Given the description of an element on the screen output the (x, y) to click on. 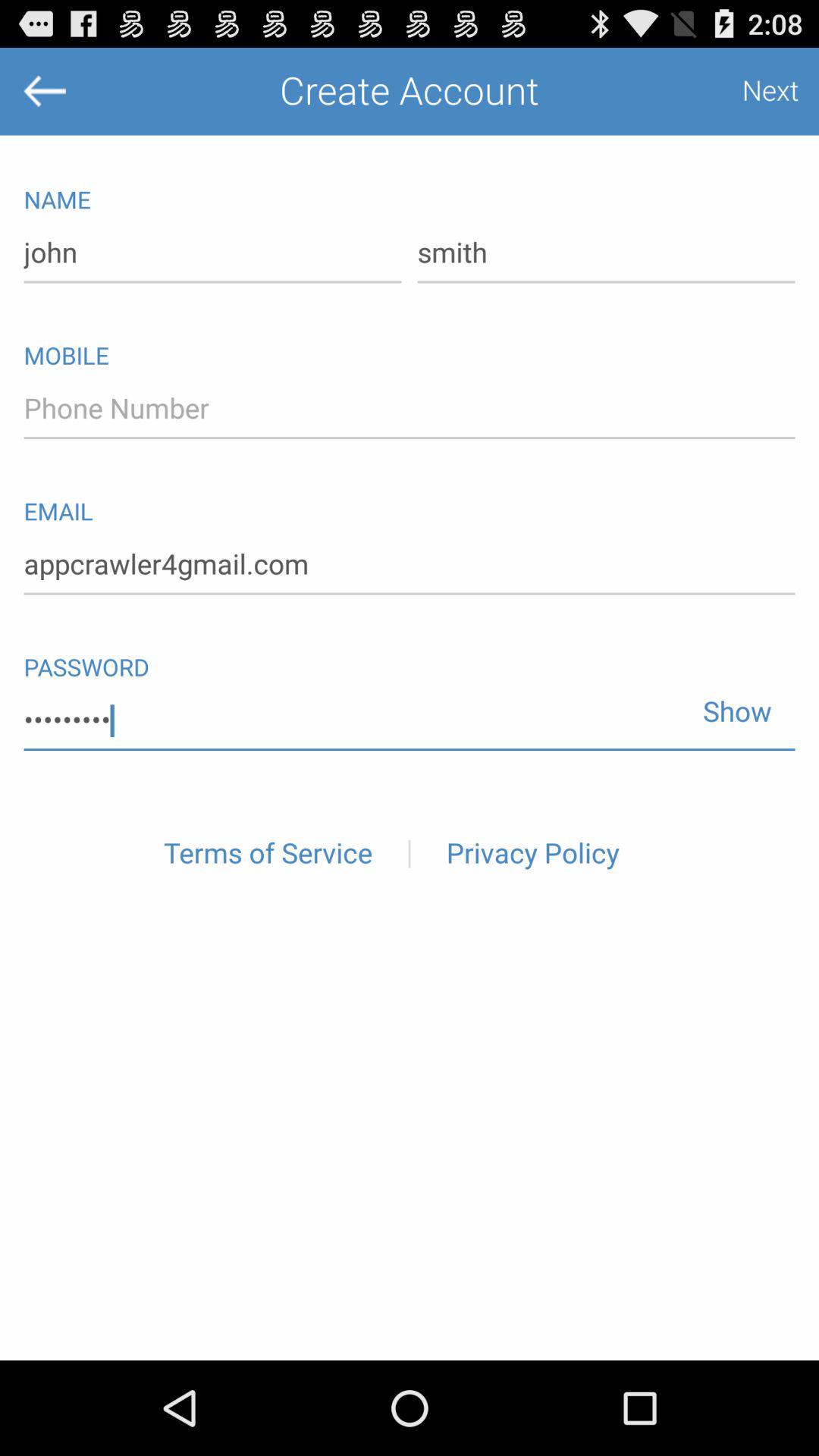
select crowd3116 icon (409, 720)
